Given the description of an element on the screen output the (x, y) to click on. 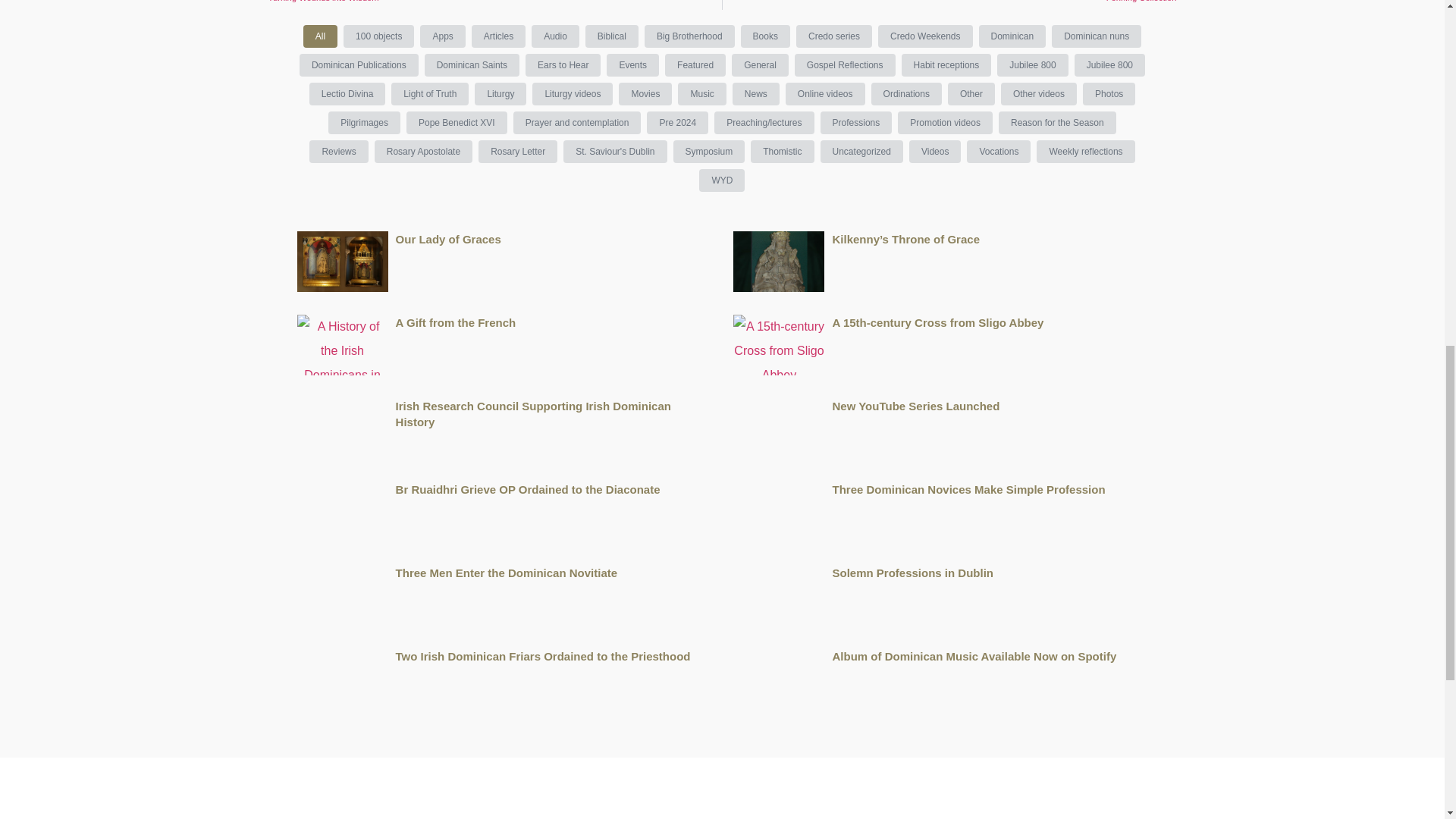
Biblical (612, 36)
Articles (485, 4)
Audio (498, 36)
Big Brotherhood (958, 4)
100 objects (555, 36)
Apps (690, 36)
